Given the description of an element on the screen output the (x, y) to click on. 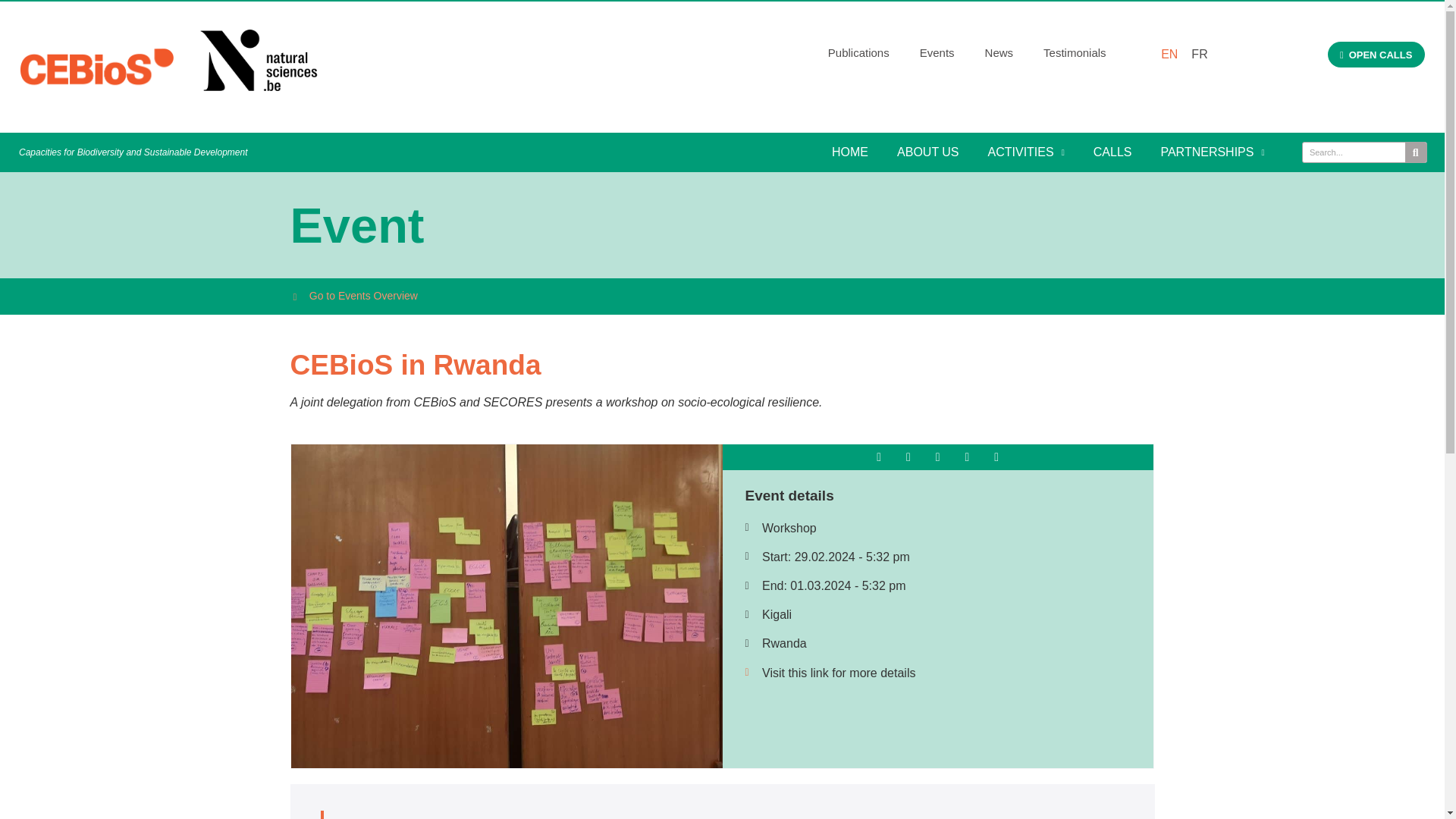
EN (1165, 53)
PARTNERSHIPS (1211, 151)
Events (936, 53)
News (999, 53)
HOME (849, 151)
ABOUT US (928, 151)
ACTIVITIES (1026, 151)
Publications (858, 53)
OPEN CALLS (1376, 54)
CALLS (1112, 151)
FR (1195, 53)
Testimonials (1074, 53)
